Given the description of an element on the screen output the (x, y) to click on. 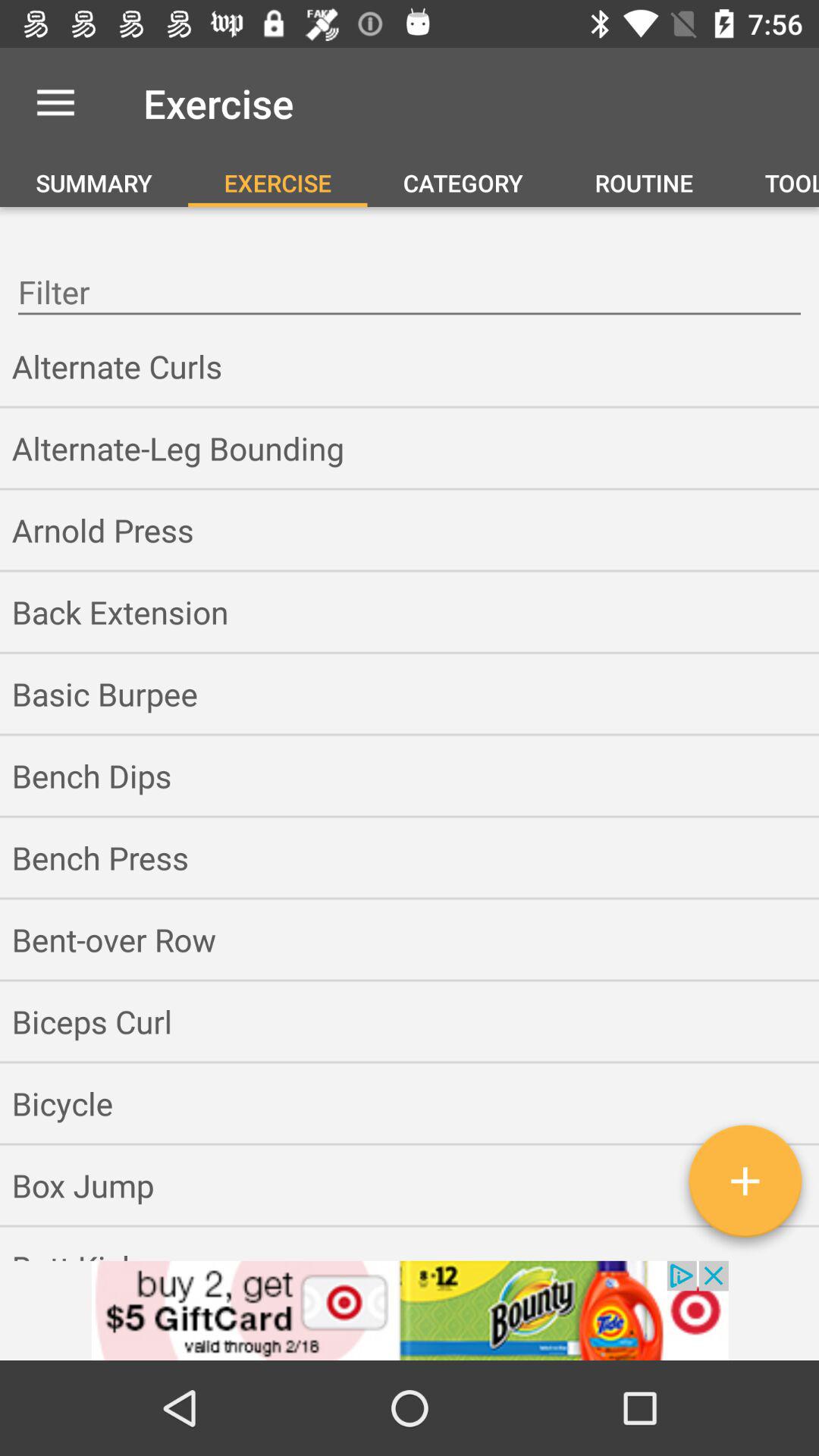
add exercise (745, 1186)
